Given the description of an element on the screen output the (x, y) to click on. 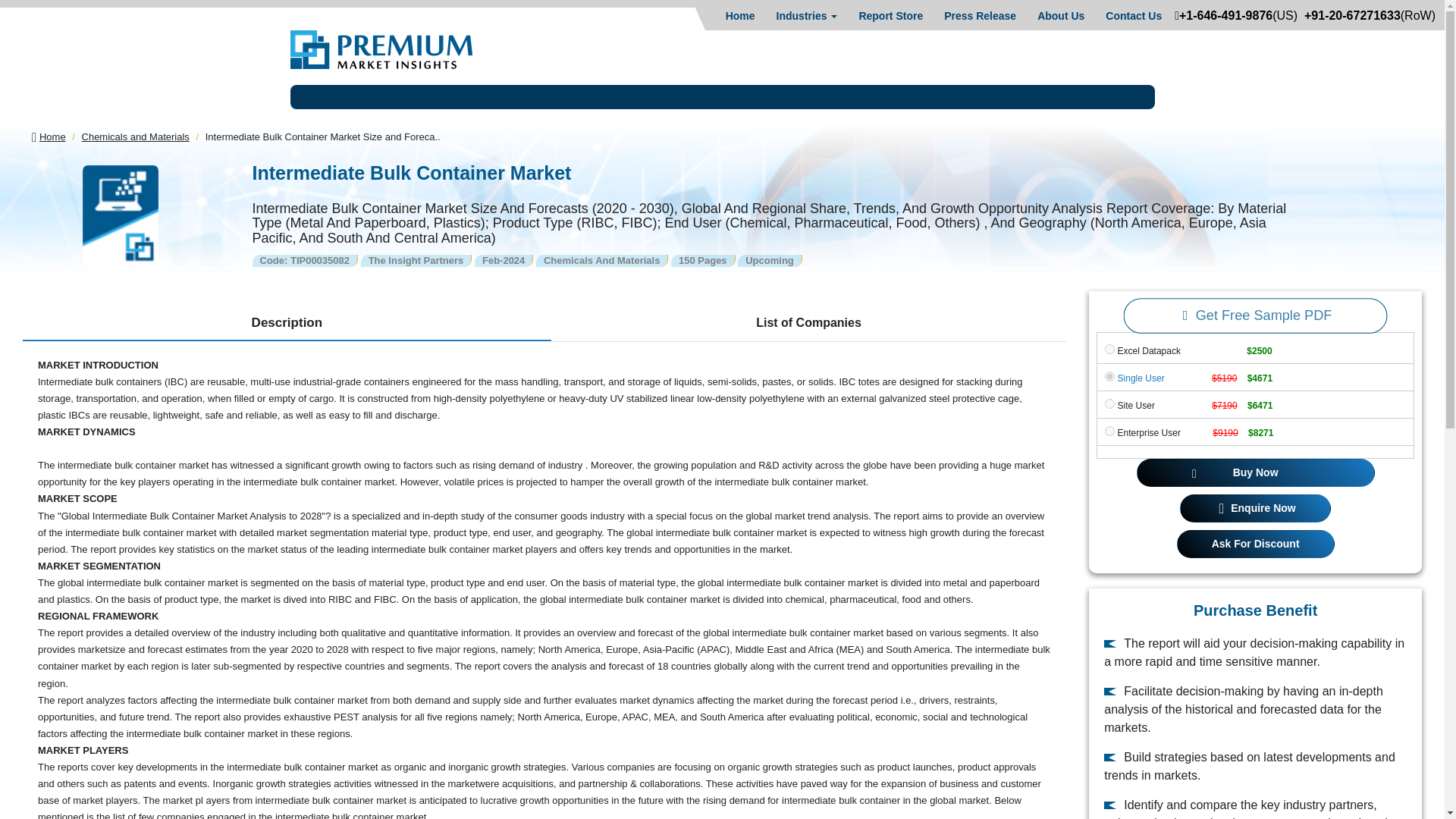
Industries (807, 15)
Contact Us (1133, 15)
Home (740, 15)
About Us (1060, 15)
Logo (380, 48)
Press Release (979, 15)
Buy Now (1255, 472)
Report Store (891, 15)
